Given the description of an element on the screen output the (x, y) to click on. 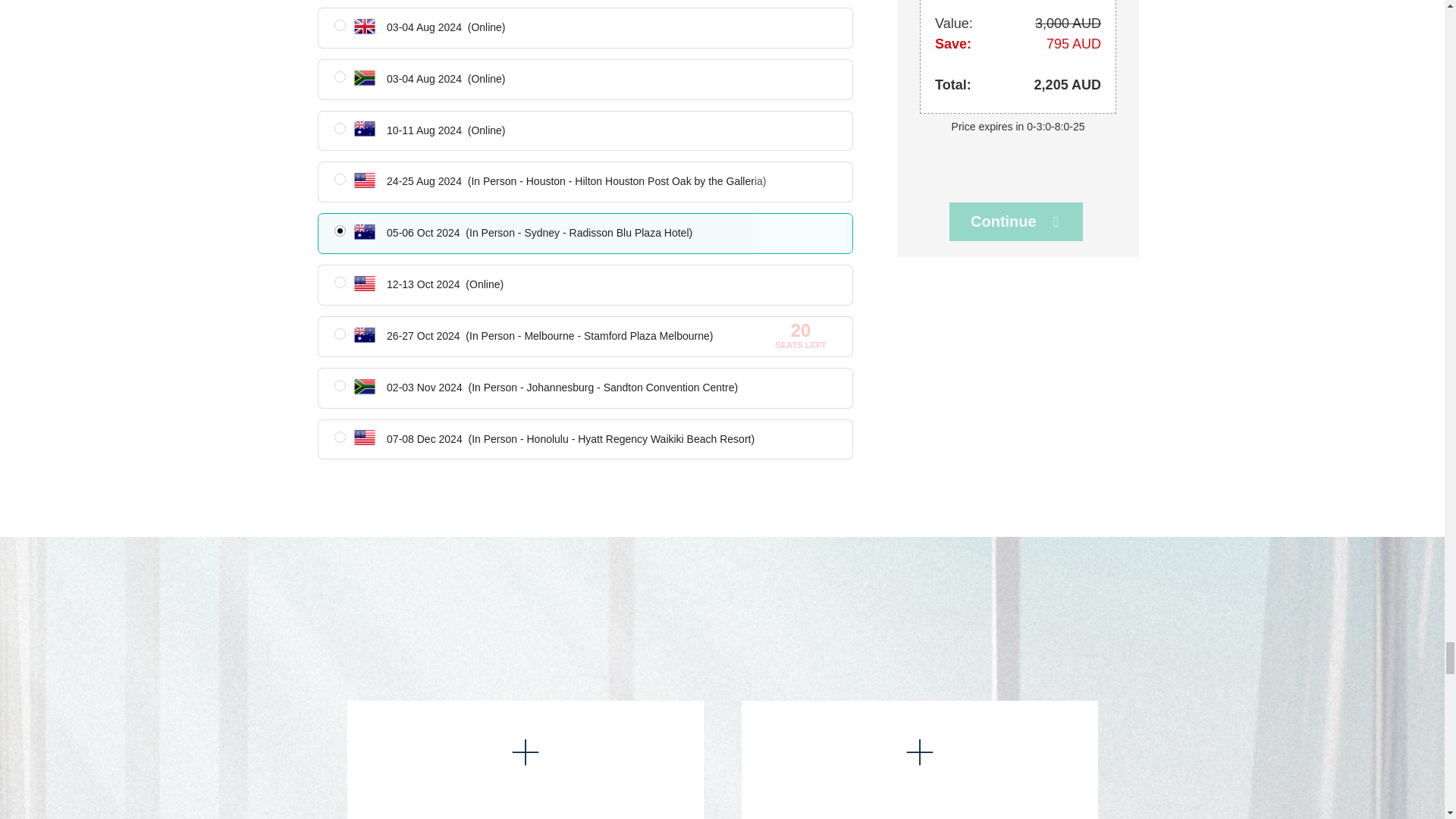
Continue (1016, 221)
